Given the description of an element on the screen output the (x, y) to click on. 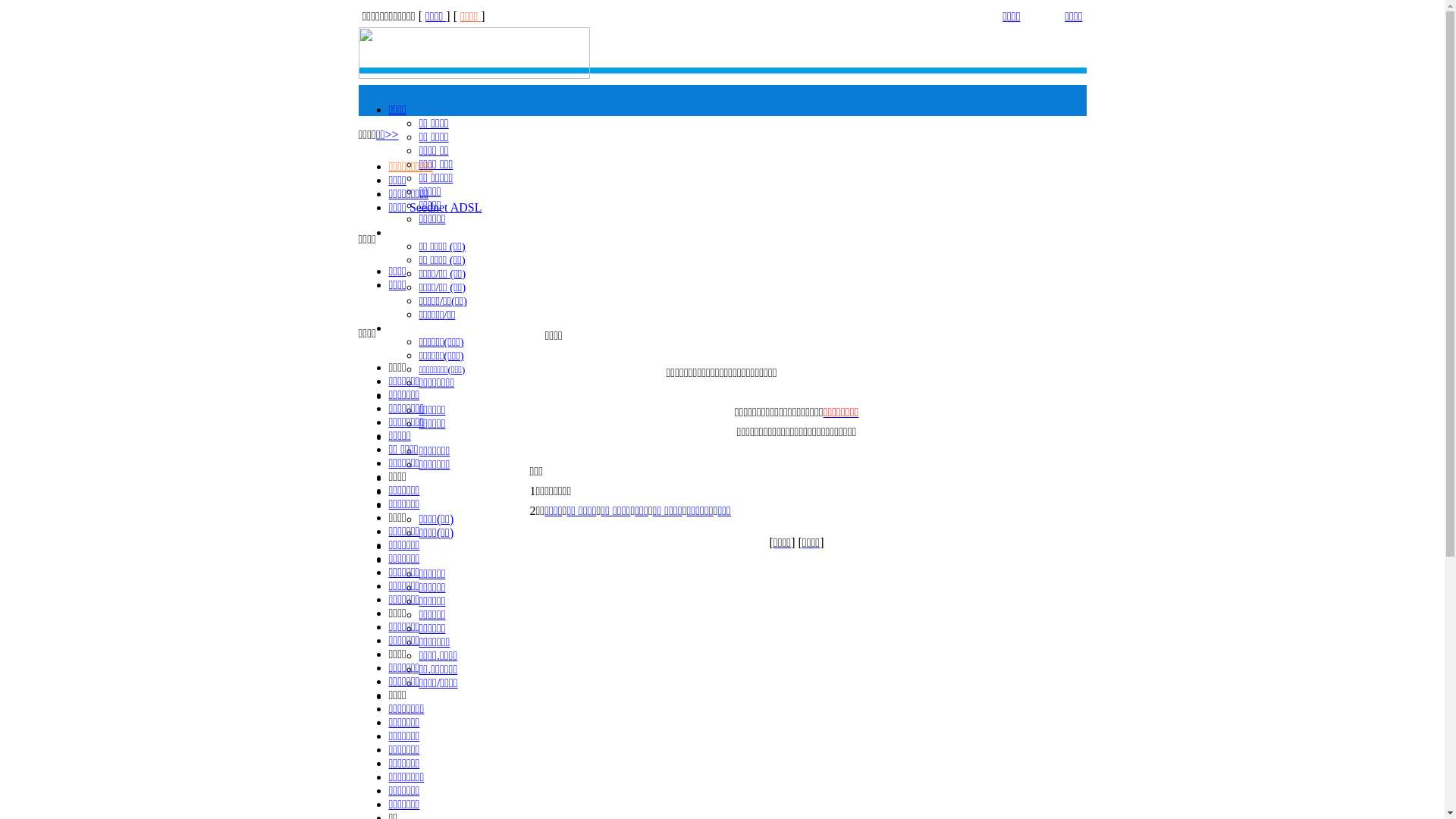
Advertisement Element type: hover (796, 611)
Advertisement Element type: hover (934, 217)
Advertisement Element type: hover (665, 217)
